Given the description of an element on the screen output the (x, y) to click on. 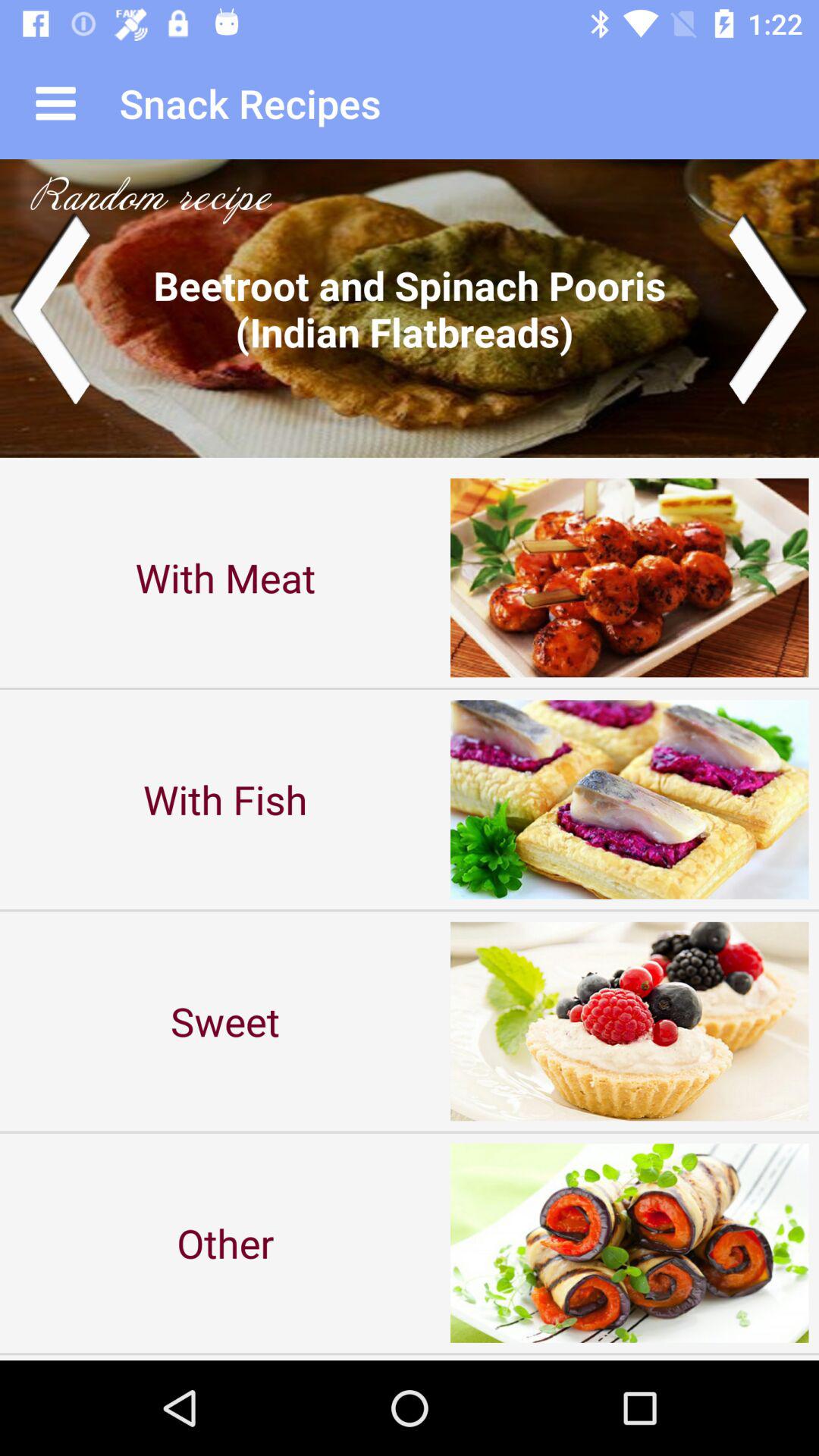
open the icon below the sweet (225, 1242)
